Given the description of an element on the screen output the (x, y) to click on. 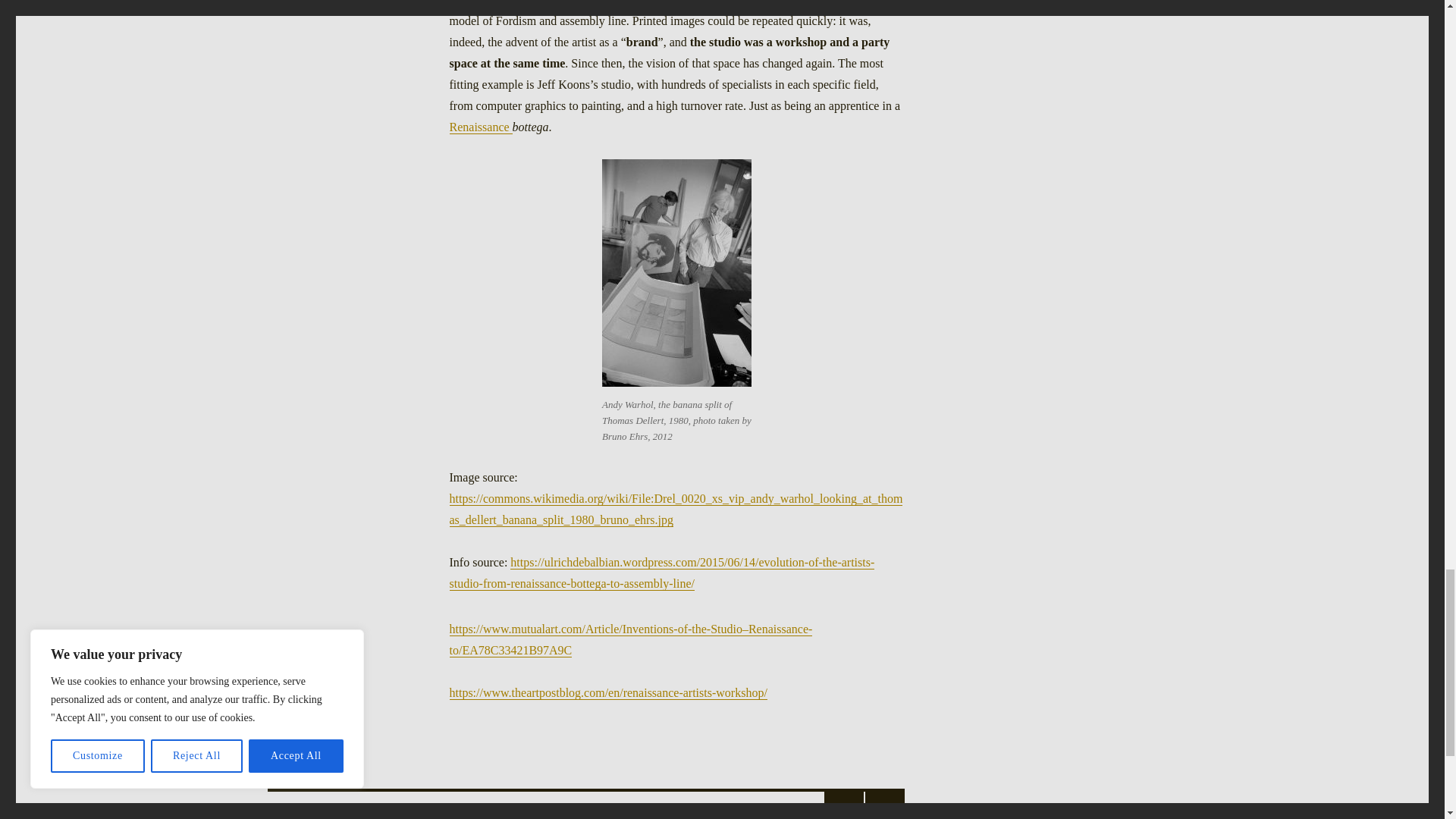
Renaissance (480, 126)
Pop Art (552, 2)
